Given the description of an element on the screen output the (x, y) to click on. 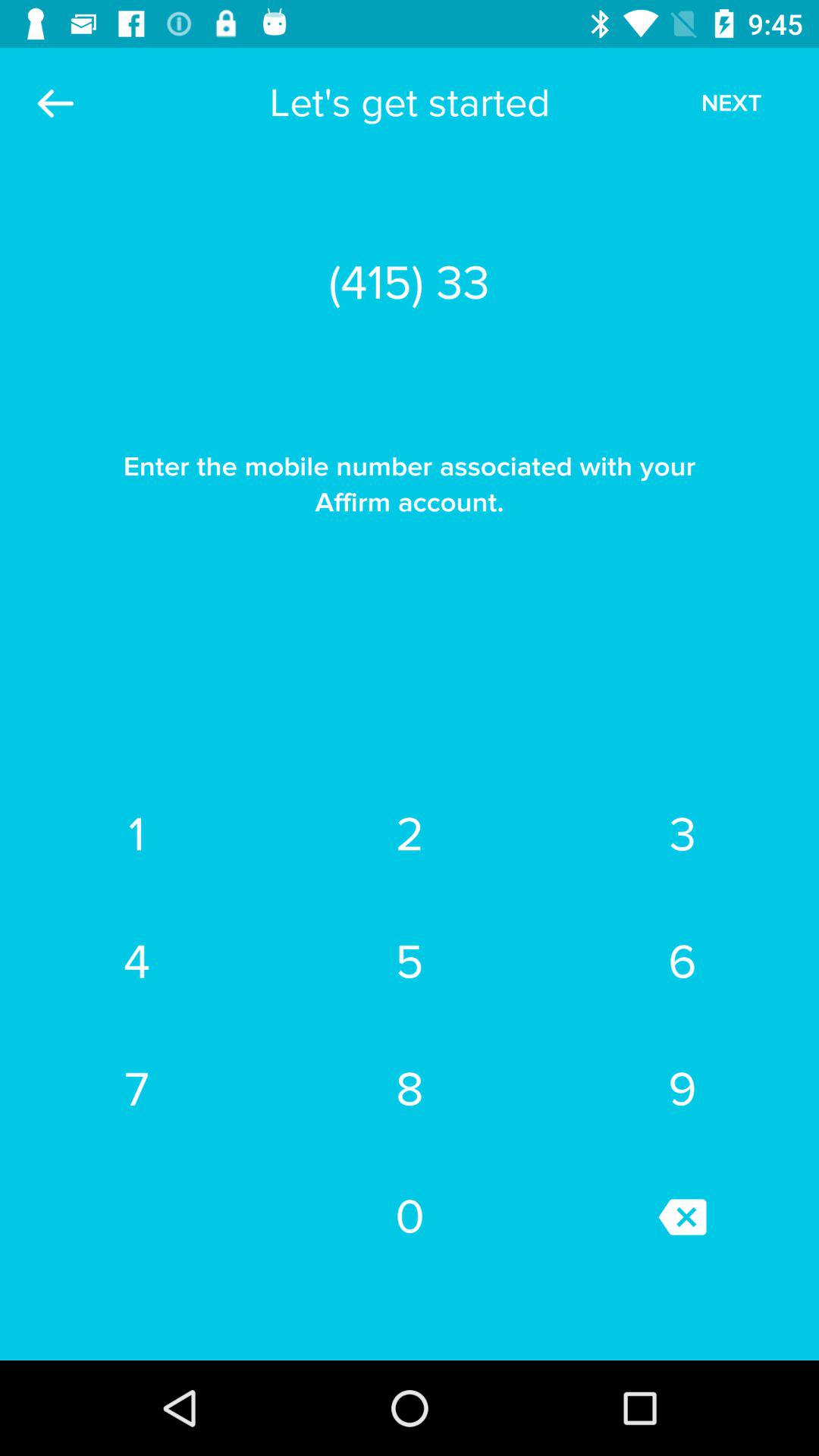
choose icon below enter the mobile (682, 834)
